Given the description of an element on the screen output the (x, y) to click on. 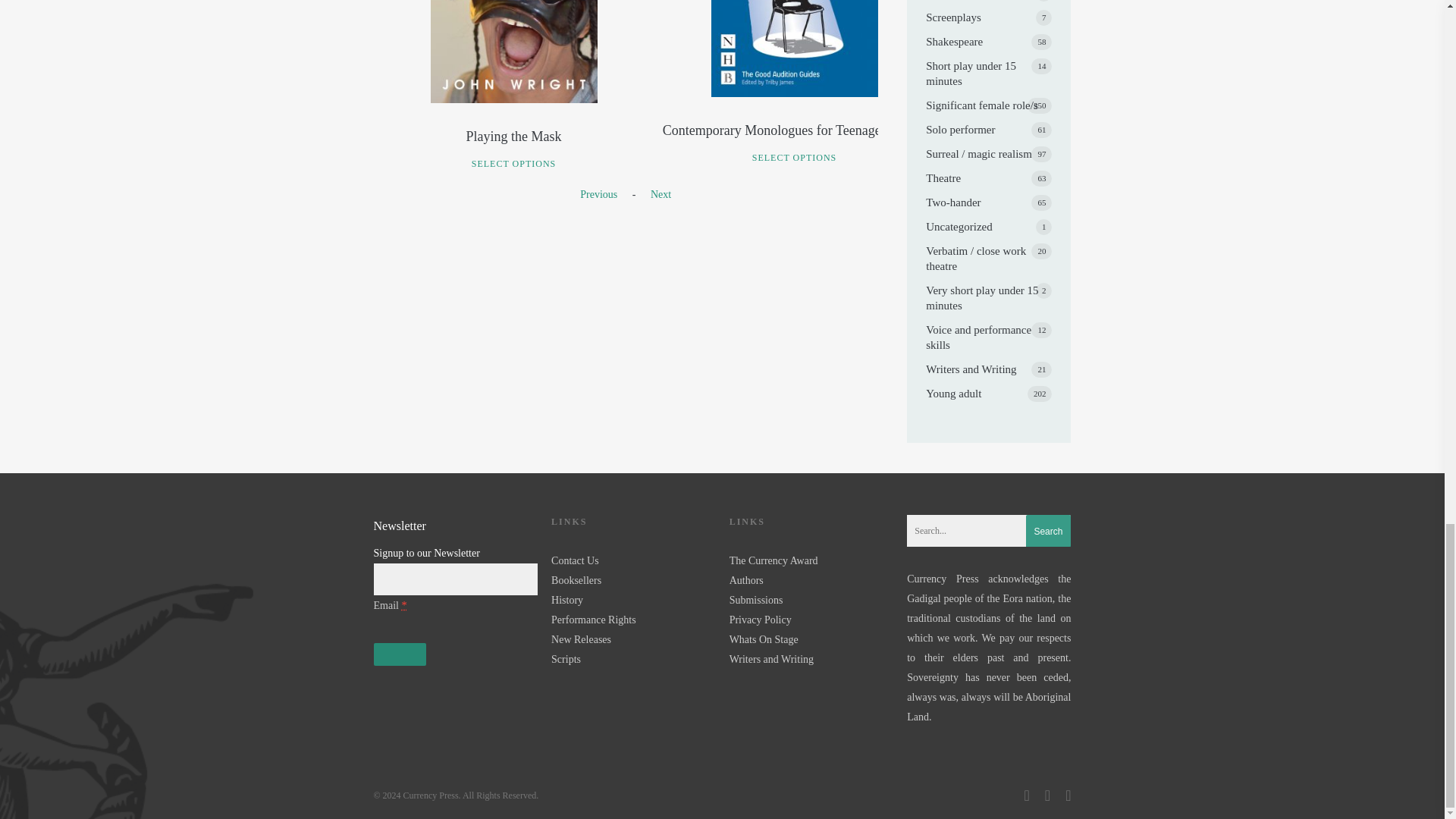
Sign up (398, 653)
Search for: (988, 531)
Search (1048, 531)
Search (1048, 531)
